Given the description of an element on the screen output the (x, y) to click on. 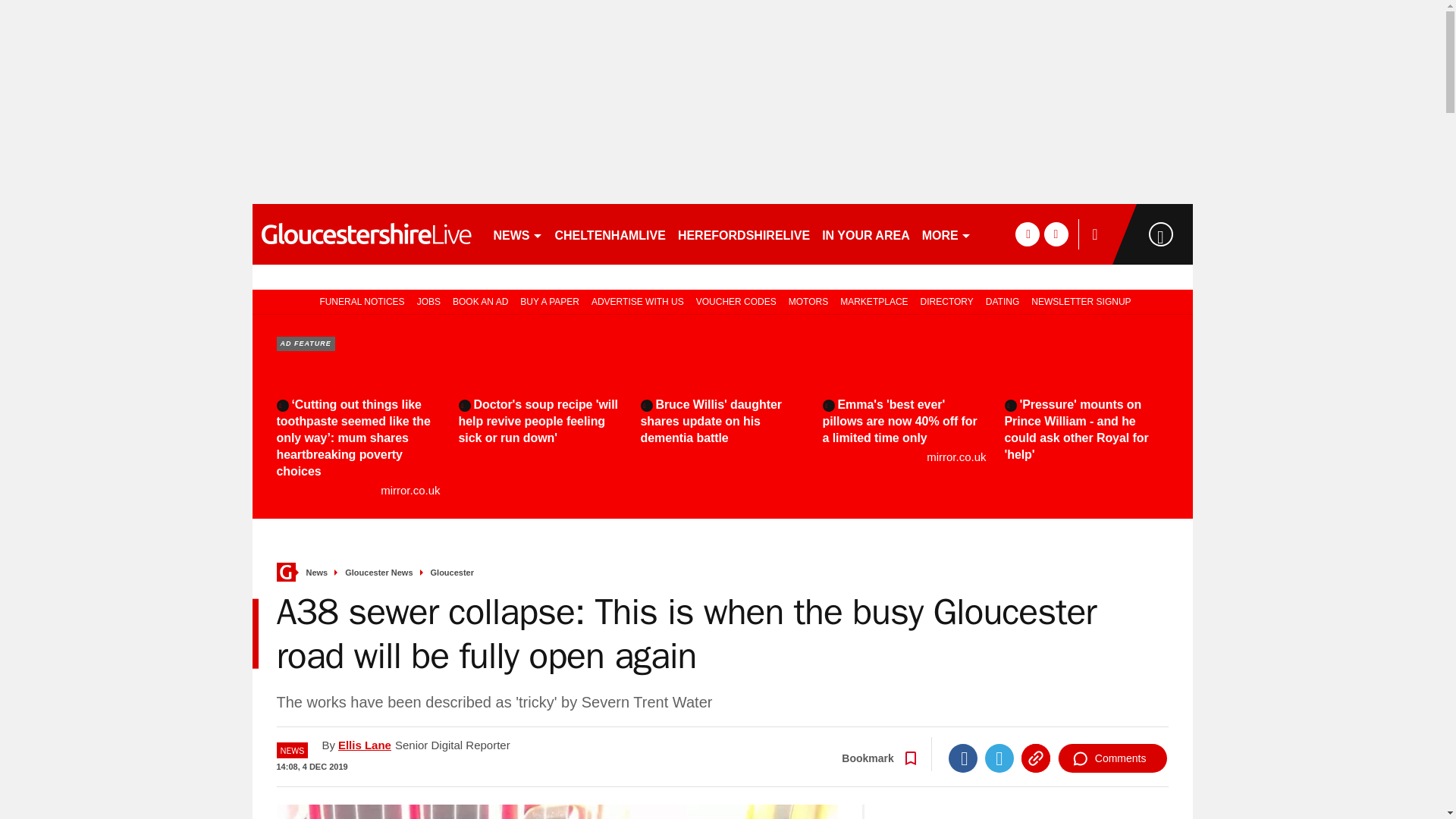
facebook (1026, 233)
CHELTENHAMLIVE (609, 233)
Comments (1112, 758)
MORE (945, 233)
HEREFORDSHIRELIVE (743, 233)
IN YOUR AREA (865, 233)
twitter (1055, 233)
Facebook (962, 758)
gloucestershirelive (365, 233)
Twitter (999, 758)
